Given the description of an element on the screen output the (x, y) to click on. 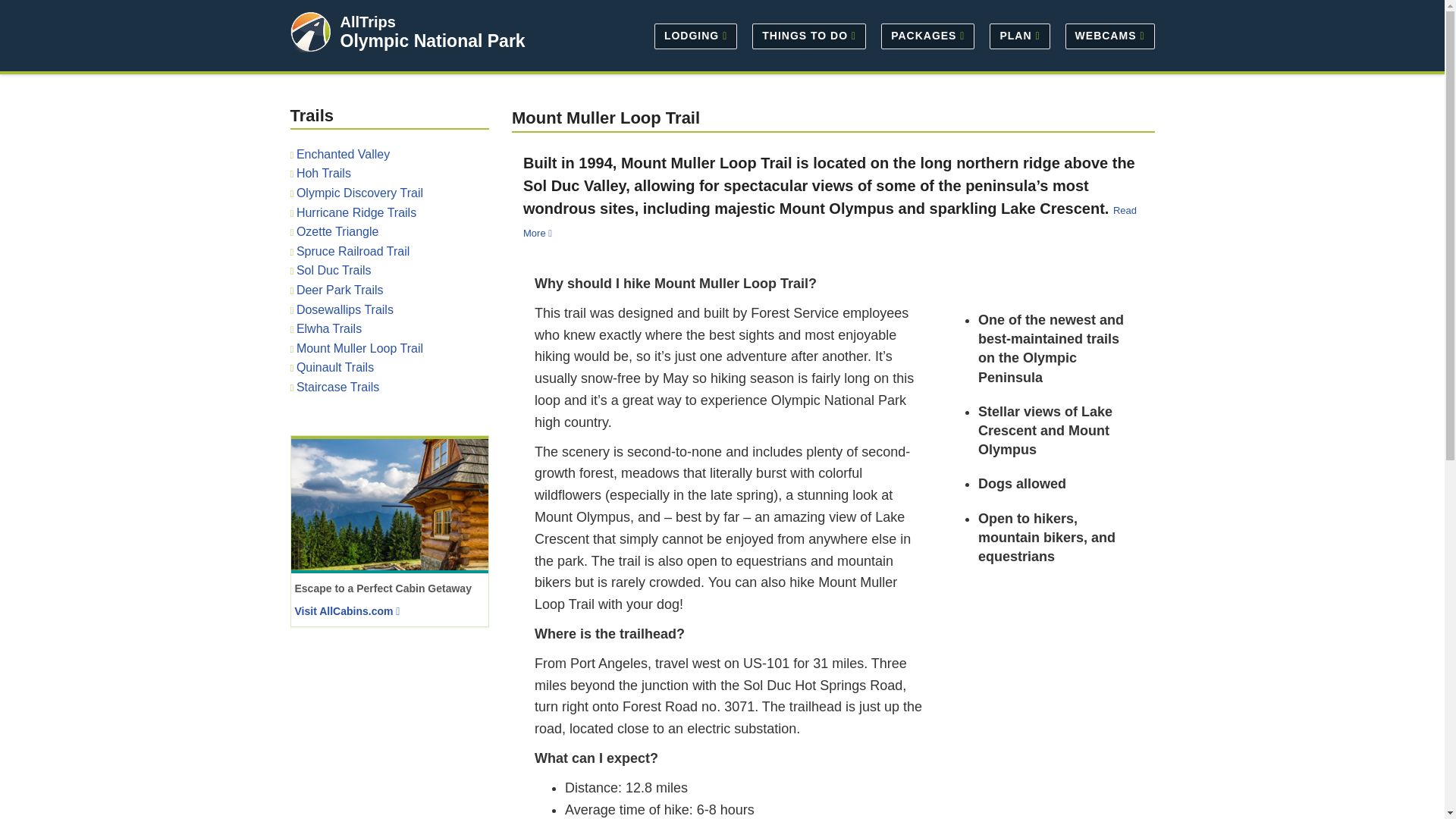
Enchanted Valley (343, 154)
WEBCAMS (1106, 35)
Read More (829, 221)
Olympic National Park (431, 40)
LODGING (695, 35)
THINGS TO DO (808, 35)
PACKAGES (927, 35)
AllTrips (366, 21)
PLAN (1019, 35)
Hoh Trails (323, 173)
